Given the description of an element on the screen output the (x, y) to click on. 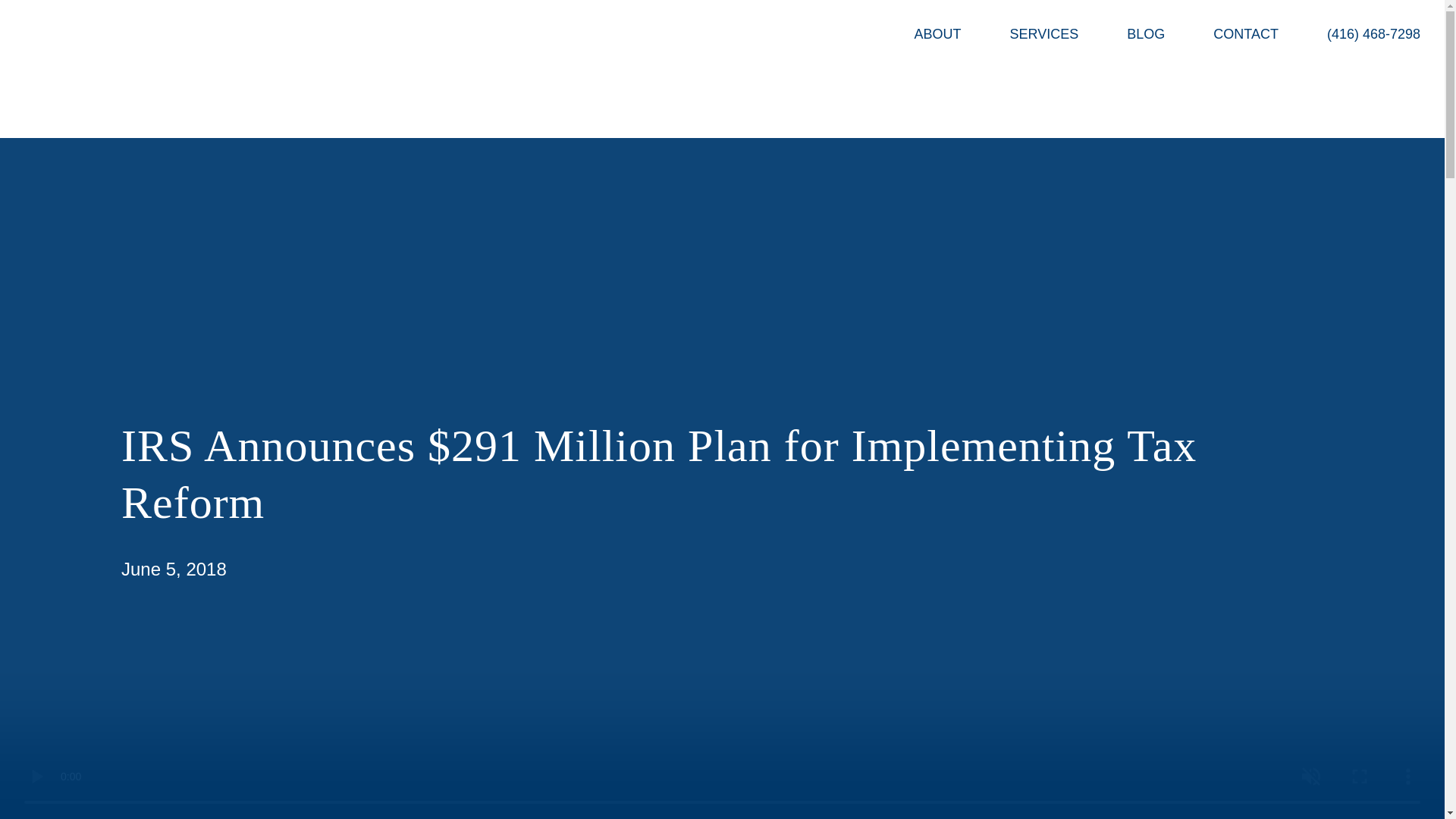
SERVICES (1043, 34)
BLOG (1145, 34)
ABOUT (936, 34)
CONTACT (1245, 34)
